Given the description of an element on the screen output the (x, y) to click on. 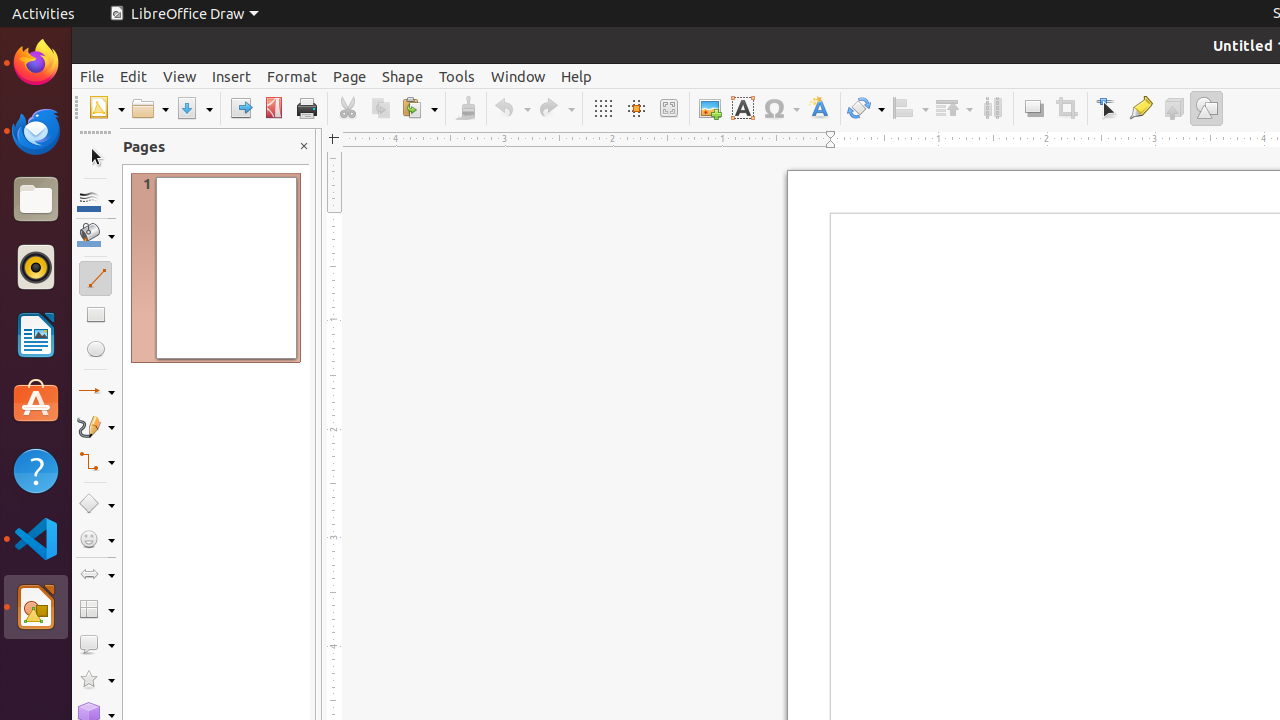
Crop Element type: push-button (1066, 108)
Window Element type: menu (518, 76)
Shadow Element type: toggle-button (1033, 108)
Helplines While Moving Element type: toggle-button (635, 108)
Text Box Element type: push-button (742, 108)
